Given the description of an element on the screen output the (x, y) to click on. 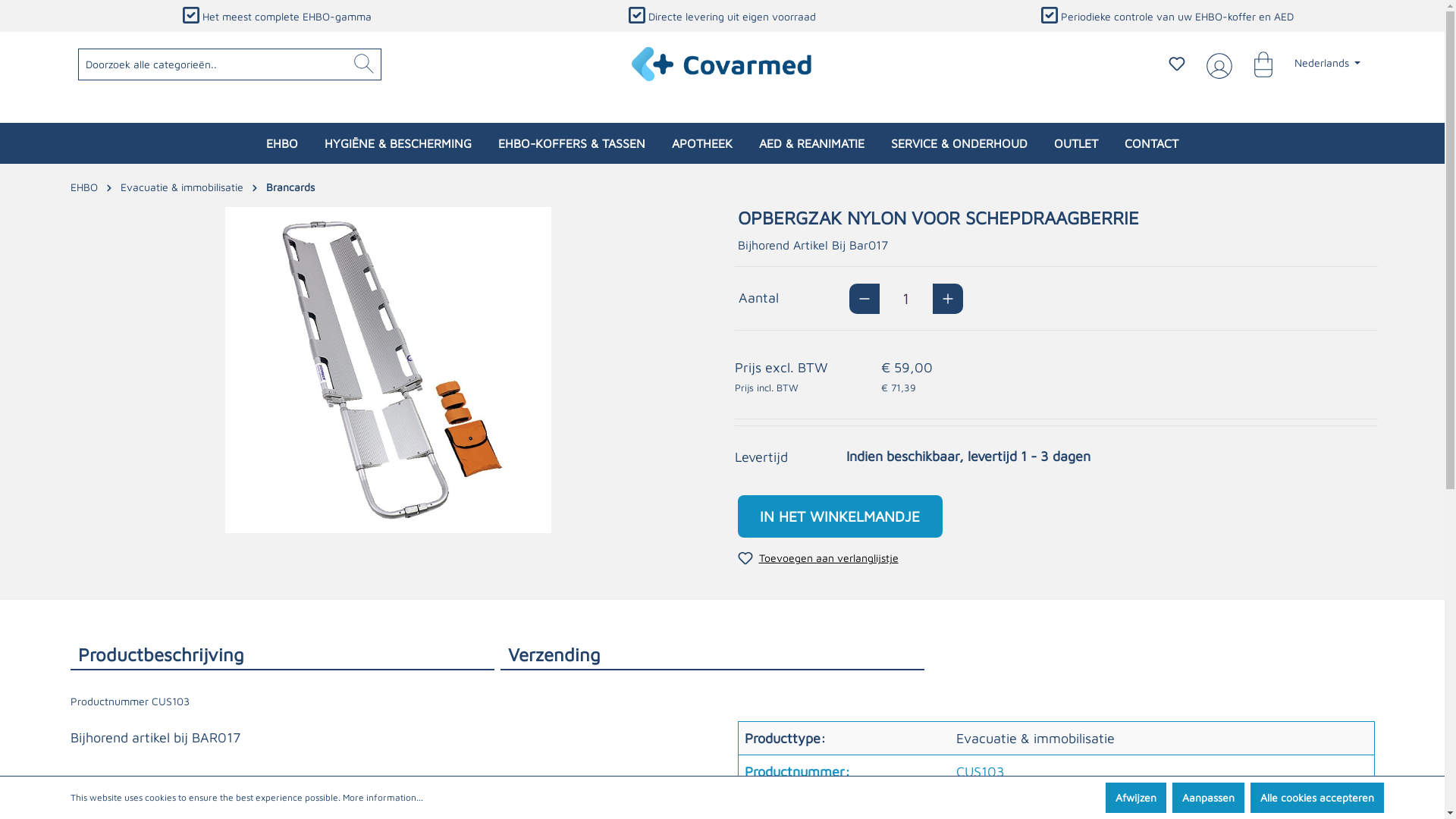
Opbergzak nylon voor schepdraagberrie Element type: hover (387, 370)
Naar de startpagina Element type: hover (722, 64)
Productbeschrijving Element type: text (281, 653)
Brancards Element type: text (289, 186)
CONTACT Element type: text (1151, 142)
SERVICE & ONDERHOUD Element type: text (958, 142)
OUTLET Element type: text (1075, 142)
Afwijzen Element type: text (1135, 797)
Toevoegen aan verlanglijstje Element type: text (817, 557)
AED & REANIMATIE Element type: text (811, 142)
Evacuatie & immobilisatie Element type: text (180, 186)
Nederlands Element type: text (1327, 62)
APOTHEEK Element type: text (701, 142)
Verlanglijstje Element type: hover (1176, 63)
More information... Element type: text (382, 797)
Alle cookies accepteren Element type: text (1316, 797)
Verzending Element type: text (712, 653)
EHBO Element type: text (281, 142)
Aanpassen Element type: text (1208, 797)
IN HET WINKELMANDJE Element type: text (839, 516)
EHBO-KOFFERS & TASSEN Element type: text (571, 142)
EHBO Element type: text (83, 186)
